Given the description of an element on the screen output the (x, y) to click on. 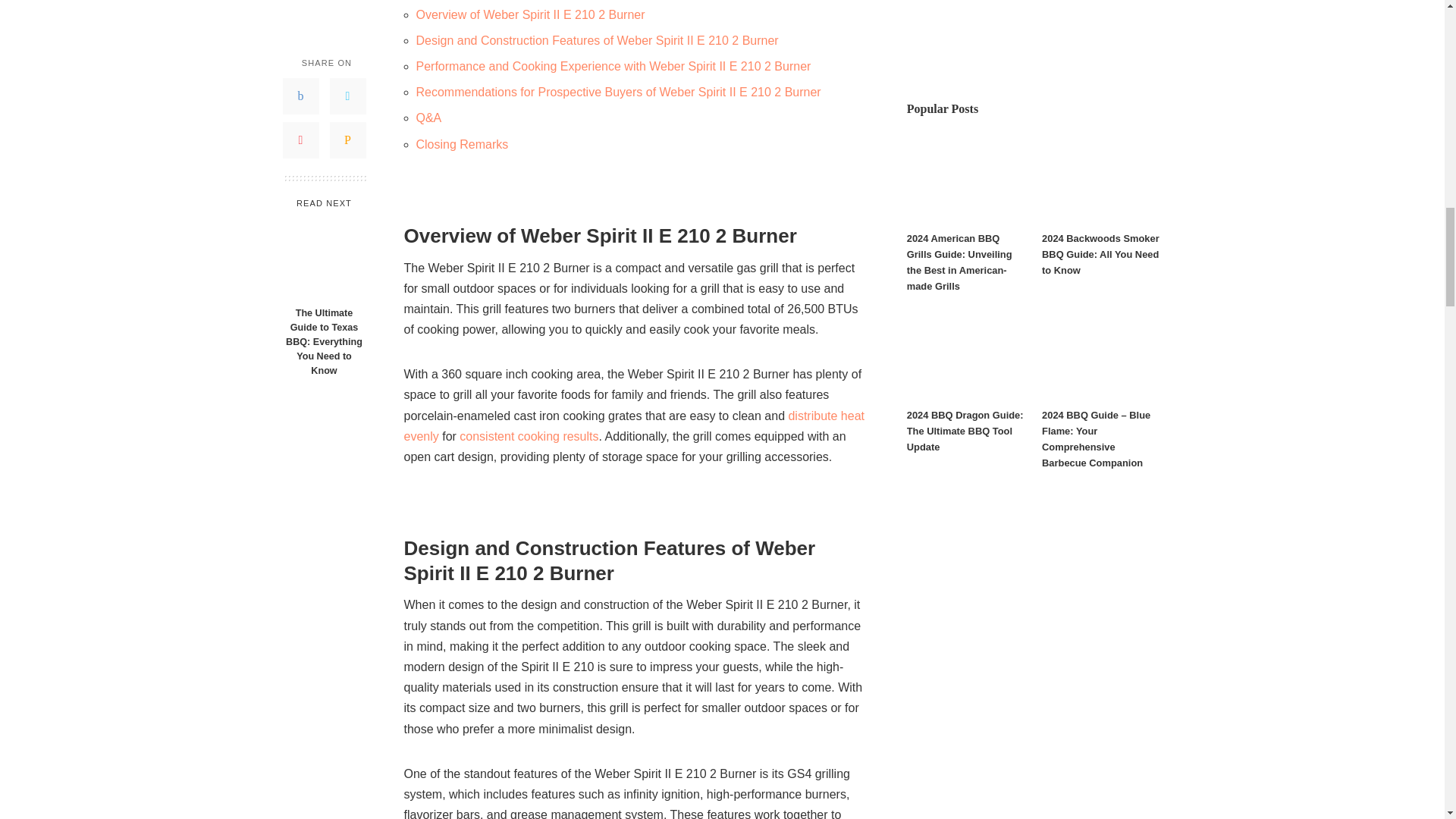
The Ultimate Guide to Texas BBQ: Everything You Need to Know (323, 108)
Closing Remarks (461, 144)
Exploring the Versatility of Kamado Grills (633, 426)
